Given the description of an element on the screen output the (x, y) to click on. 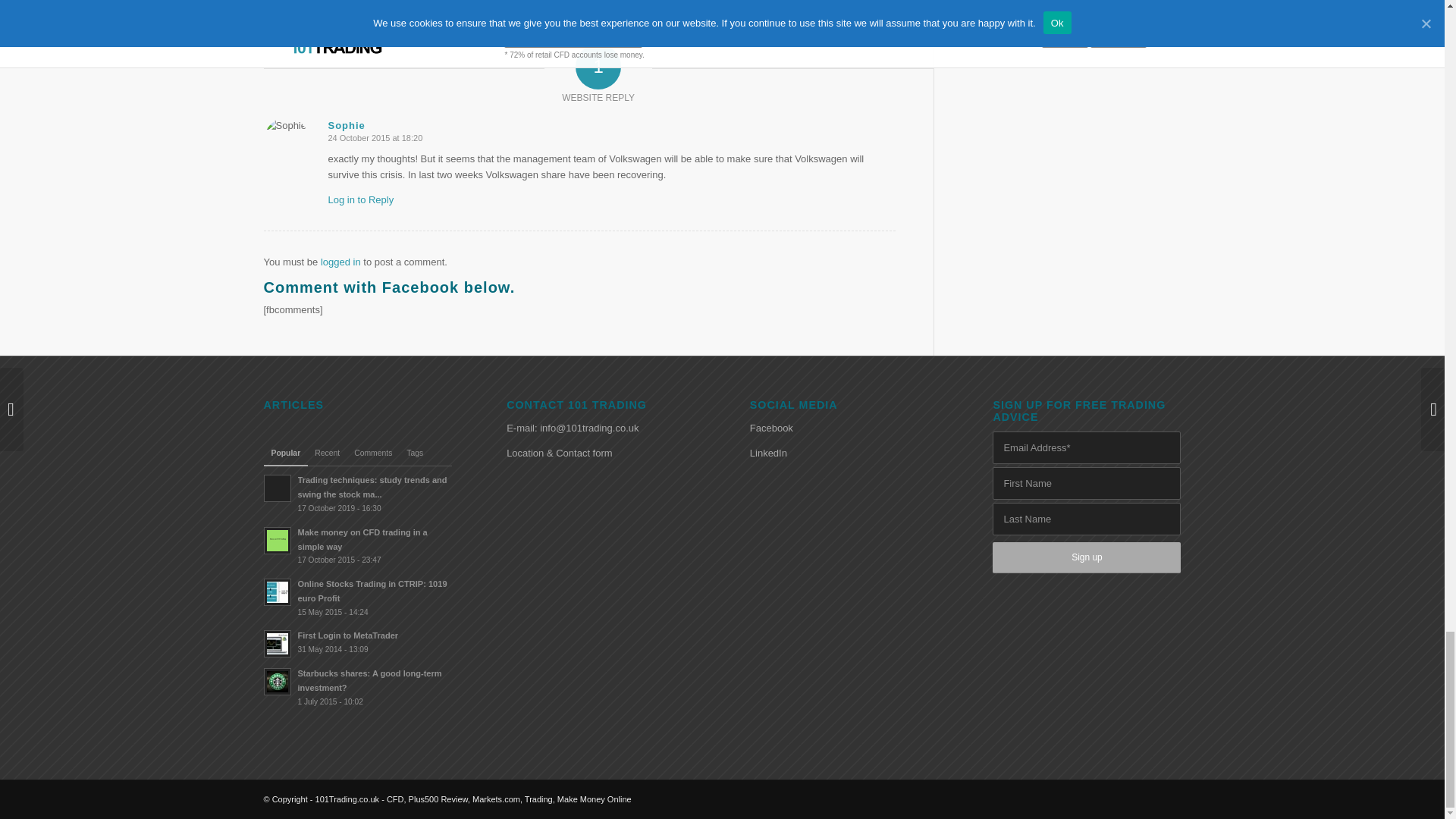
Sign up (1086, 557)
